Given the description of an element on the screen output the (x, y) to click on. 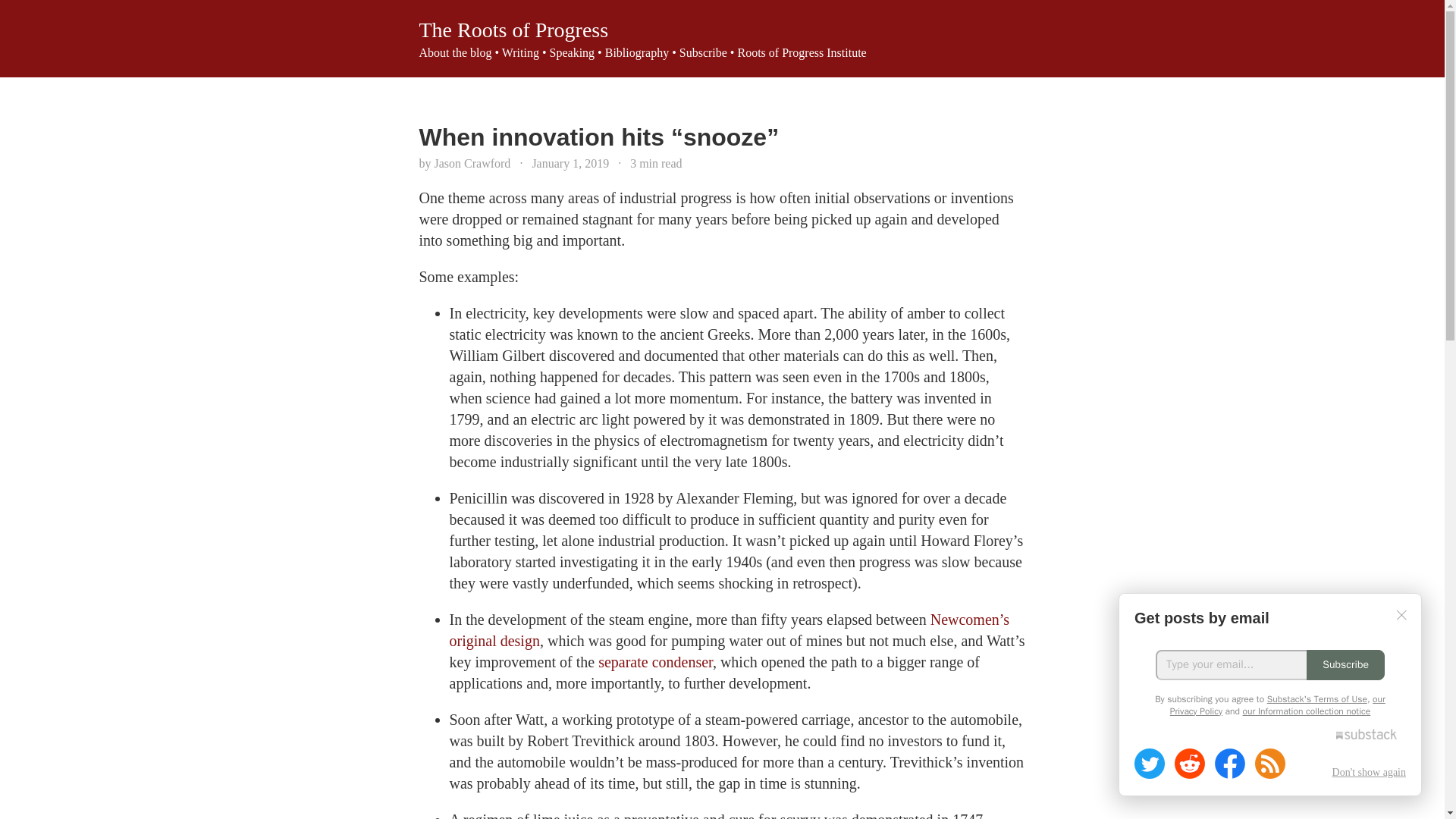
Subscribe (702, 51)
About the blog (455, 51)
Speaking (572, 51)
separate condenser (655, 661)
Roots of Progress Institute (801, 51)
Writing (520, 51)
Bibliography (636, 51)
The Roots of Progress (513, 29)
